Given the description of an element on the screen output the (x, y) to click on. 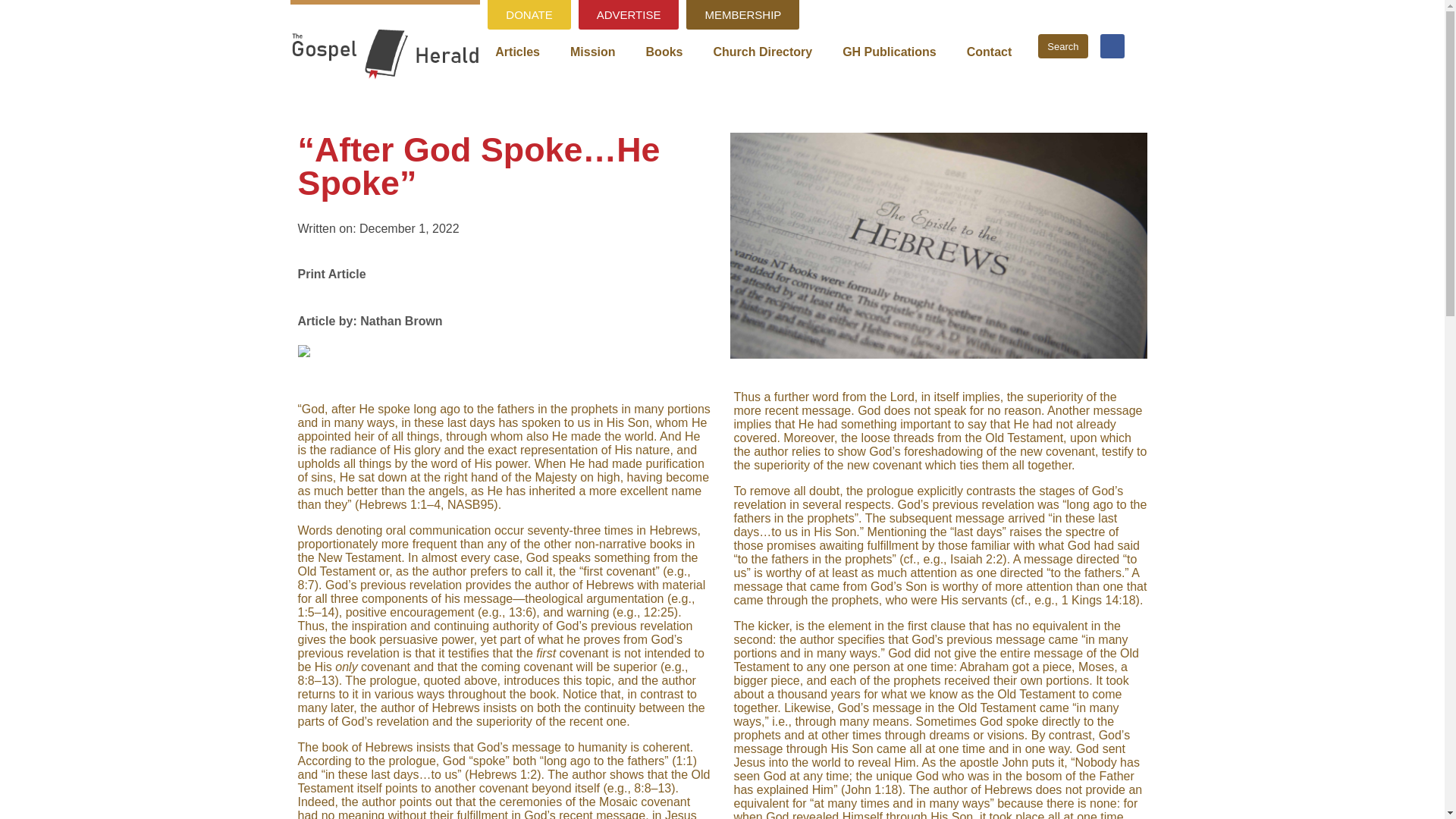
Contact (989, 52)
Search (1062, 46)
GH Publications (889, 52)
Articles (517, 52)
Church Directory (762, 52)
Print Article (331, 269)
Books (664, 52)
Mission (592, 52)
